Given the description of an element on the screen output the (x, y) to click on. 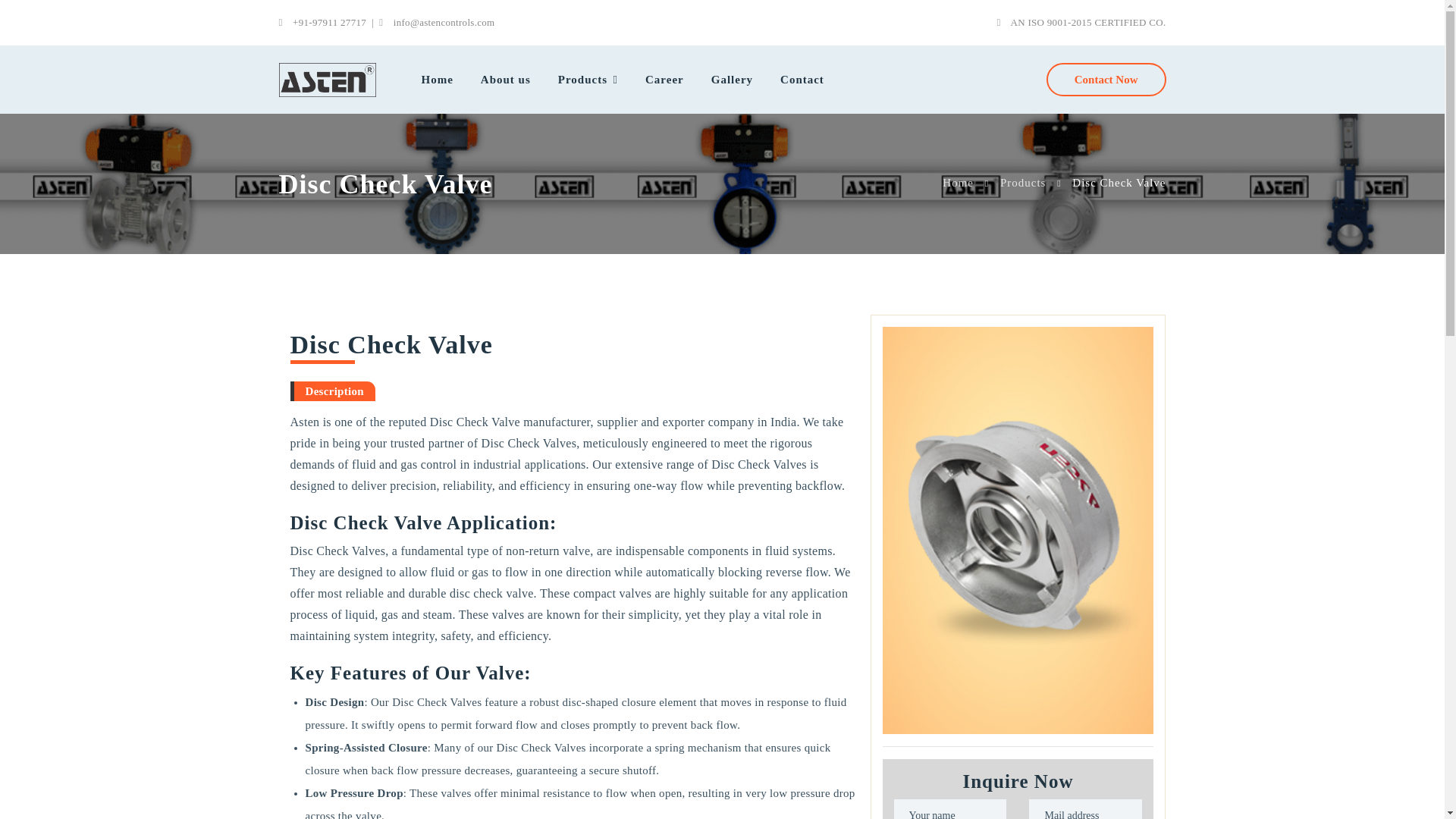
Products (587, 78)
Home (437, 78)
About us (505, 78)
